Given the description of an element on the screen output the (x, y) to click on. 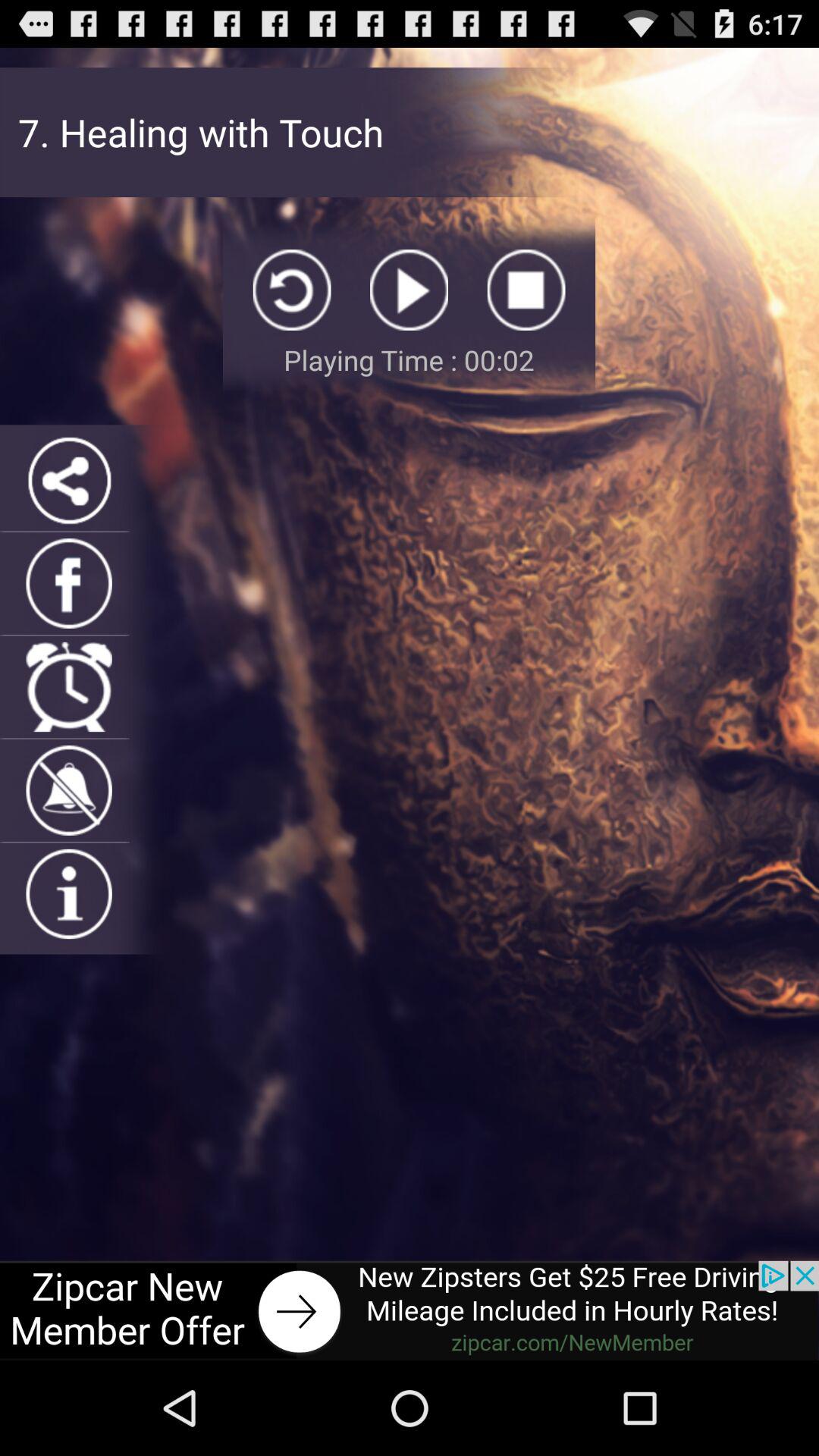
select share option (69, 479)
